Given the description of an element on the screen output the (x, y) to click on. 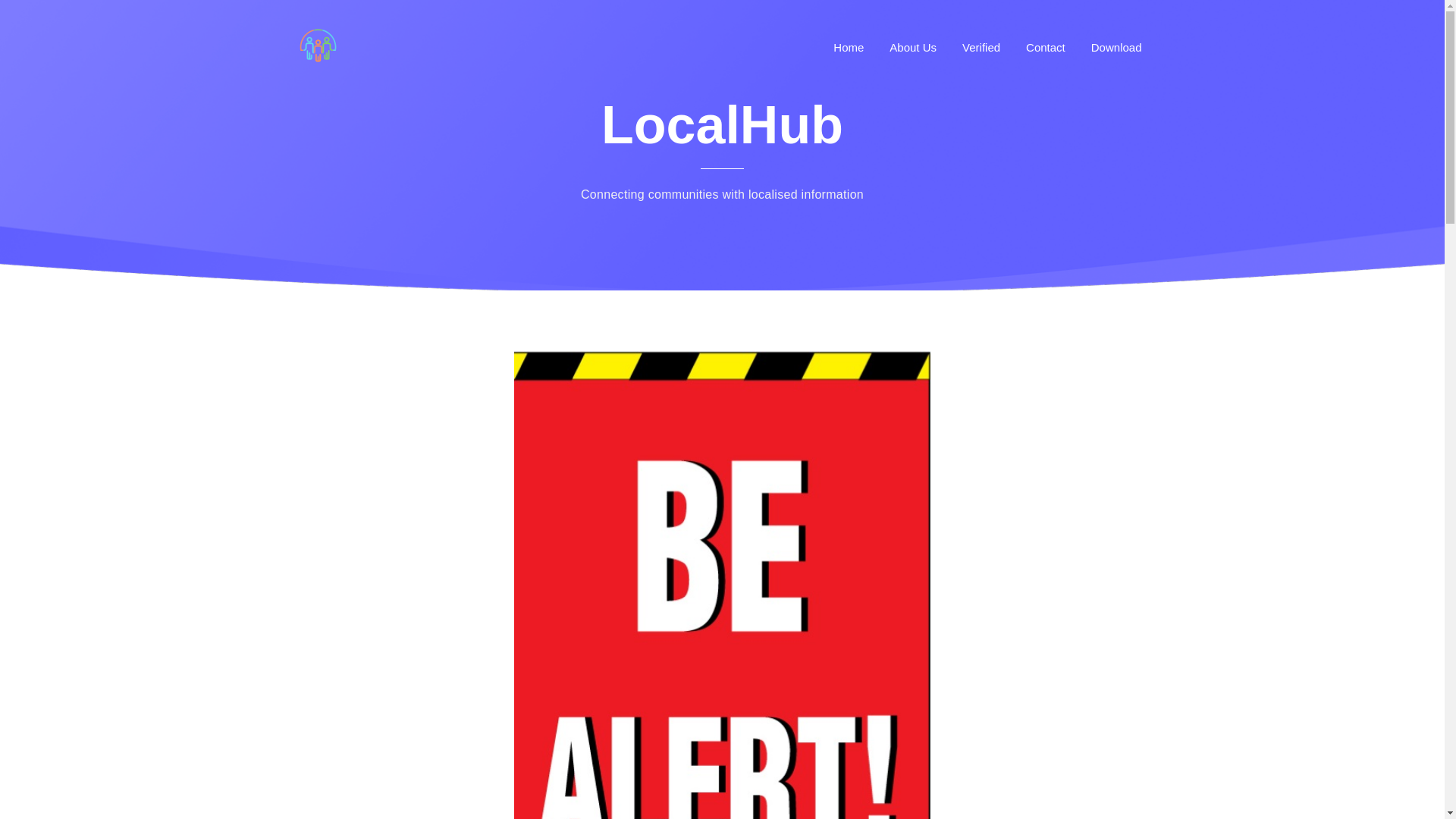
About Us (912, 47)
Home (848, 47)
Download (1116, 47)
Contact (1045, 47)
Verified (981, 47)
